Given the description of an element on the screen output the (x, y) to click on. 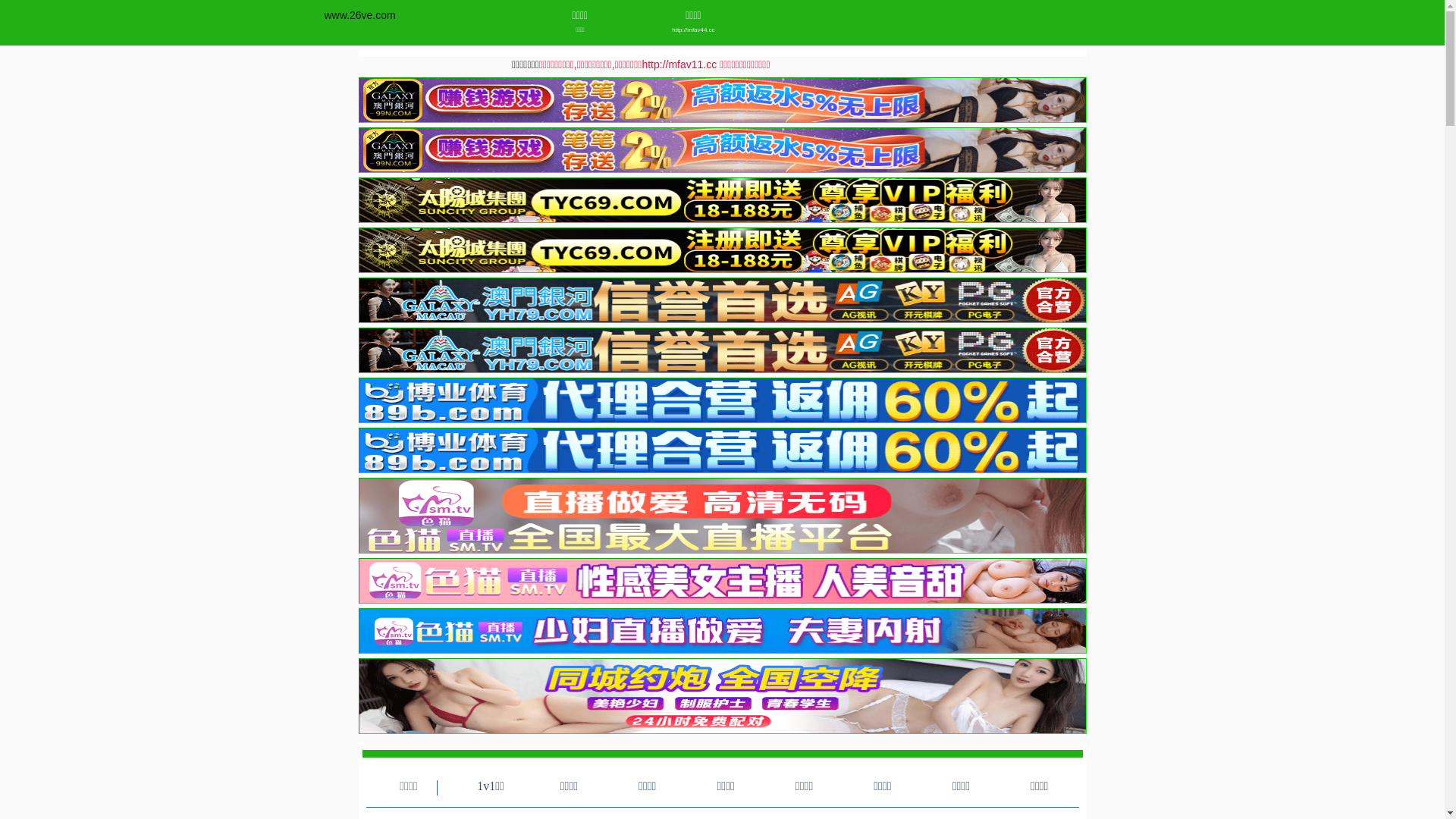
http://mfav44.cc Element type: text (693, 29)
www.26ve.com Element type: text (359, 15)
